Given the description of an element on the screen output the (x, y) to click on. 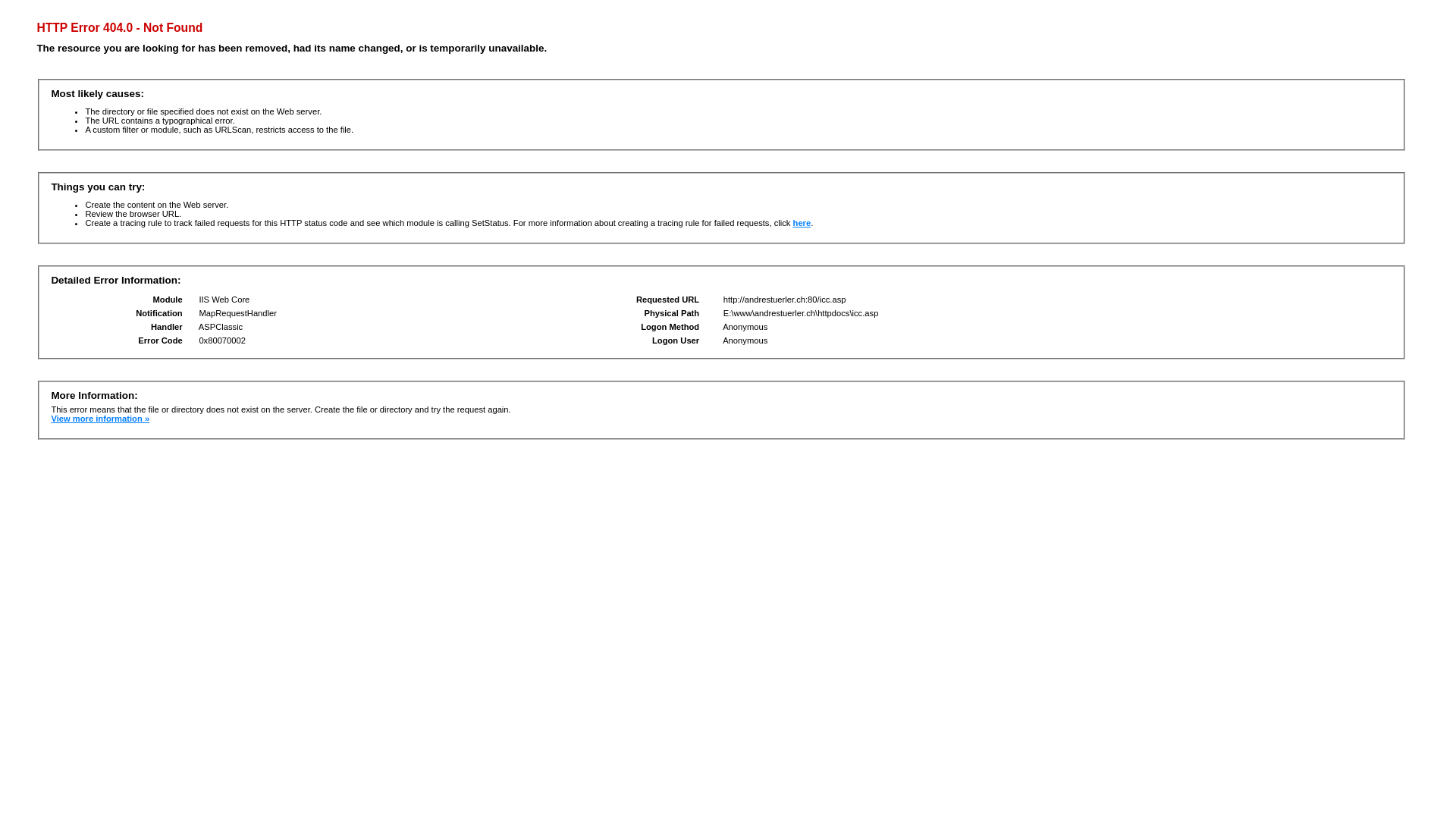
here Element type: text (802, 222)
